Given the description of an element on the screen output the (x, y) to click on. 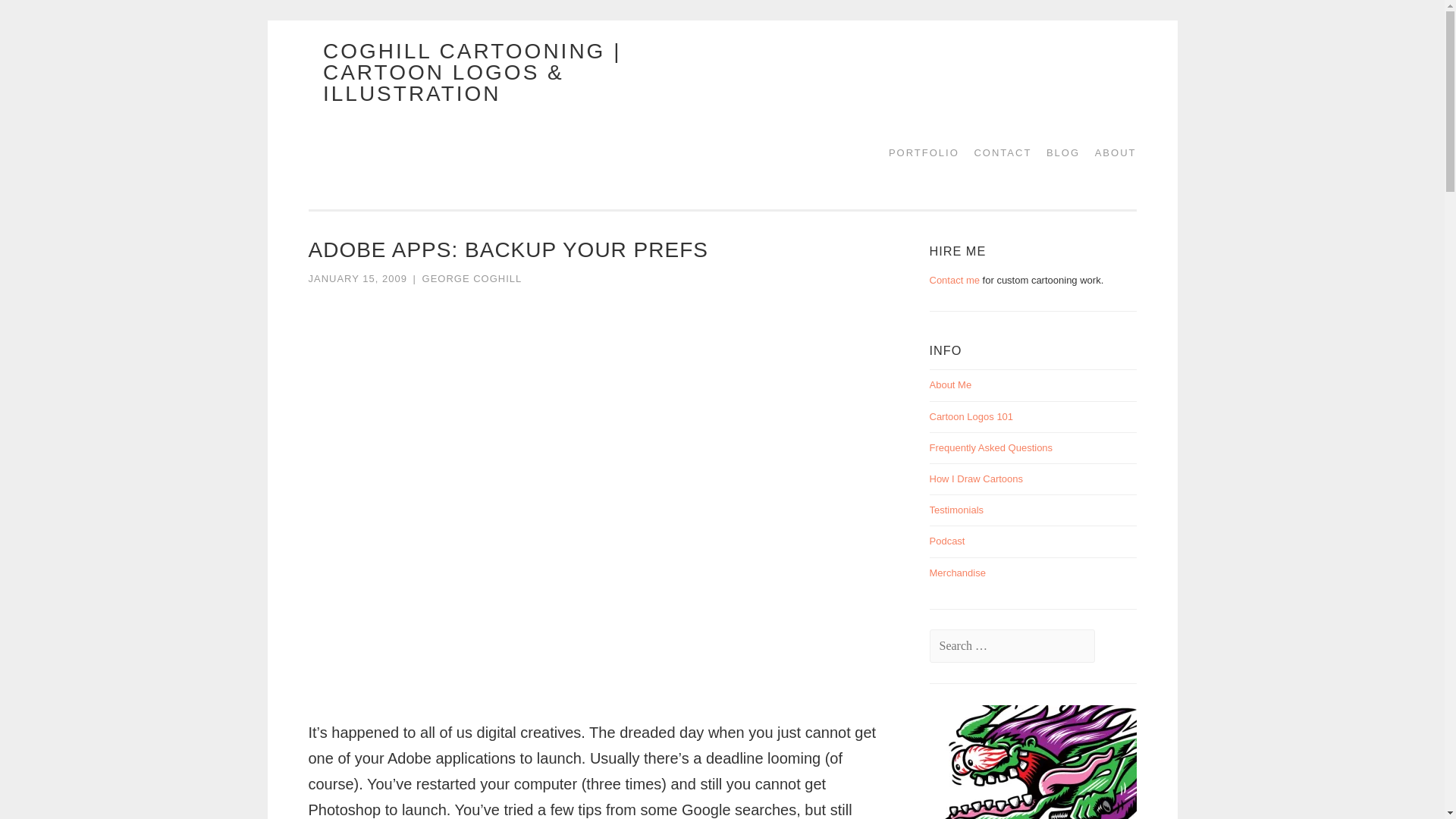
JANUARY 15, 2009 (356, 278)
ABOUT (1110, 152)
fat-tire-speed-freak-coghill (1074, 762)
PORTFOLIO (918, 152)
GEORGE COGHILL (472, 278)
BLOG (1057, 152)
CONTACT (996, 152)
